Given the description of an element on the screen output the (x, y) to click on. 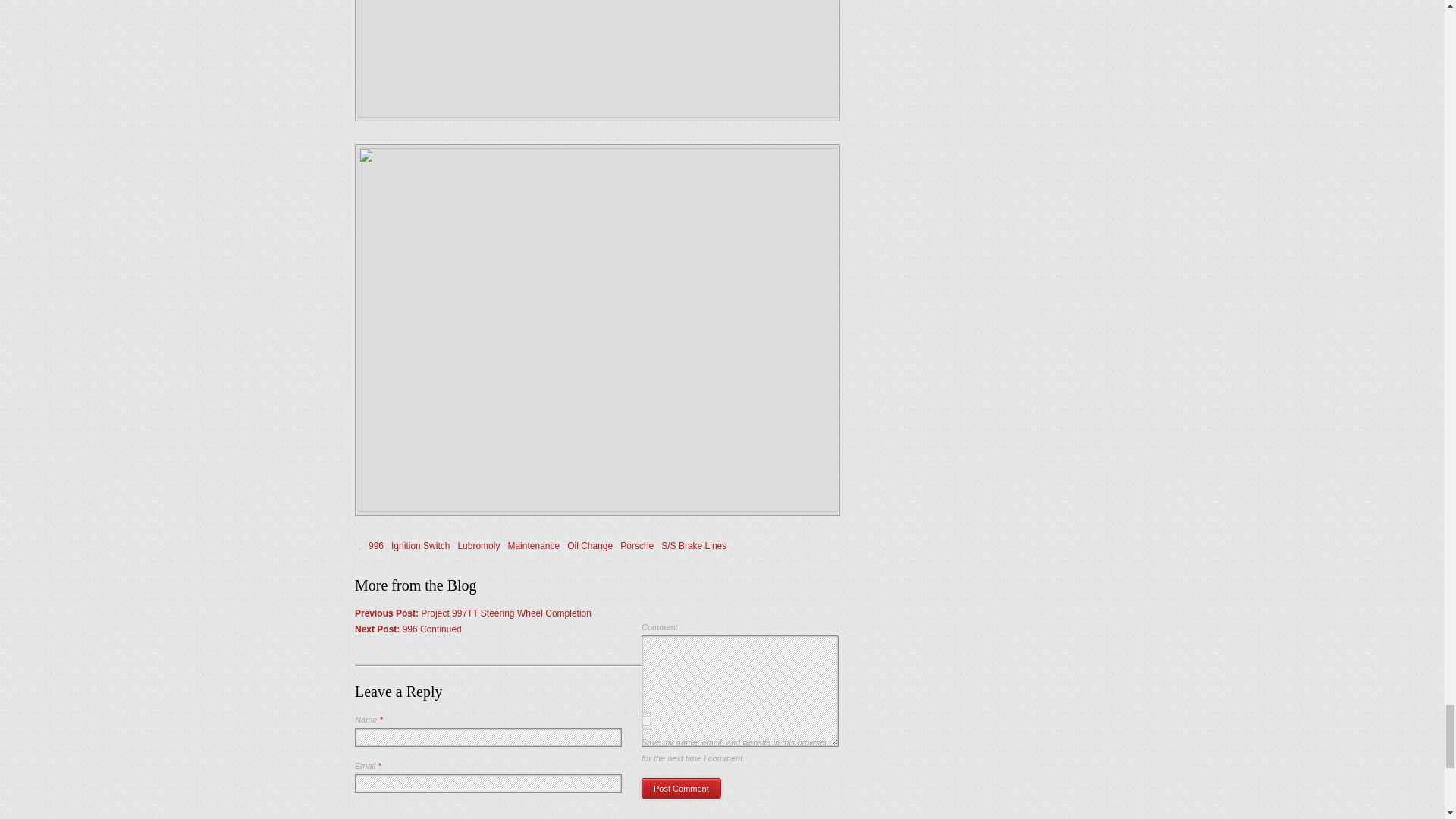
Lubromoly (478, 545)
Porsche (636, 545)
Previous Post: Project 997TT Steering Wheel Completion (473, 613)
Next Post: 996 Continued (408, 629)
Oil Change (589, 545)
Post Comment (681, 788)
Maintenance (532, 545)
Post Comment (681, 788)
Ignition Switch (420, 545)
996 (376, 545)
